Given the description of an element on the screen output the (x, y) to click on. 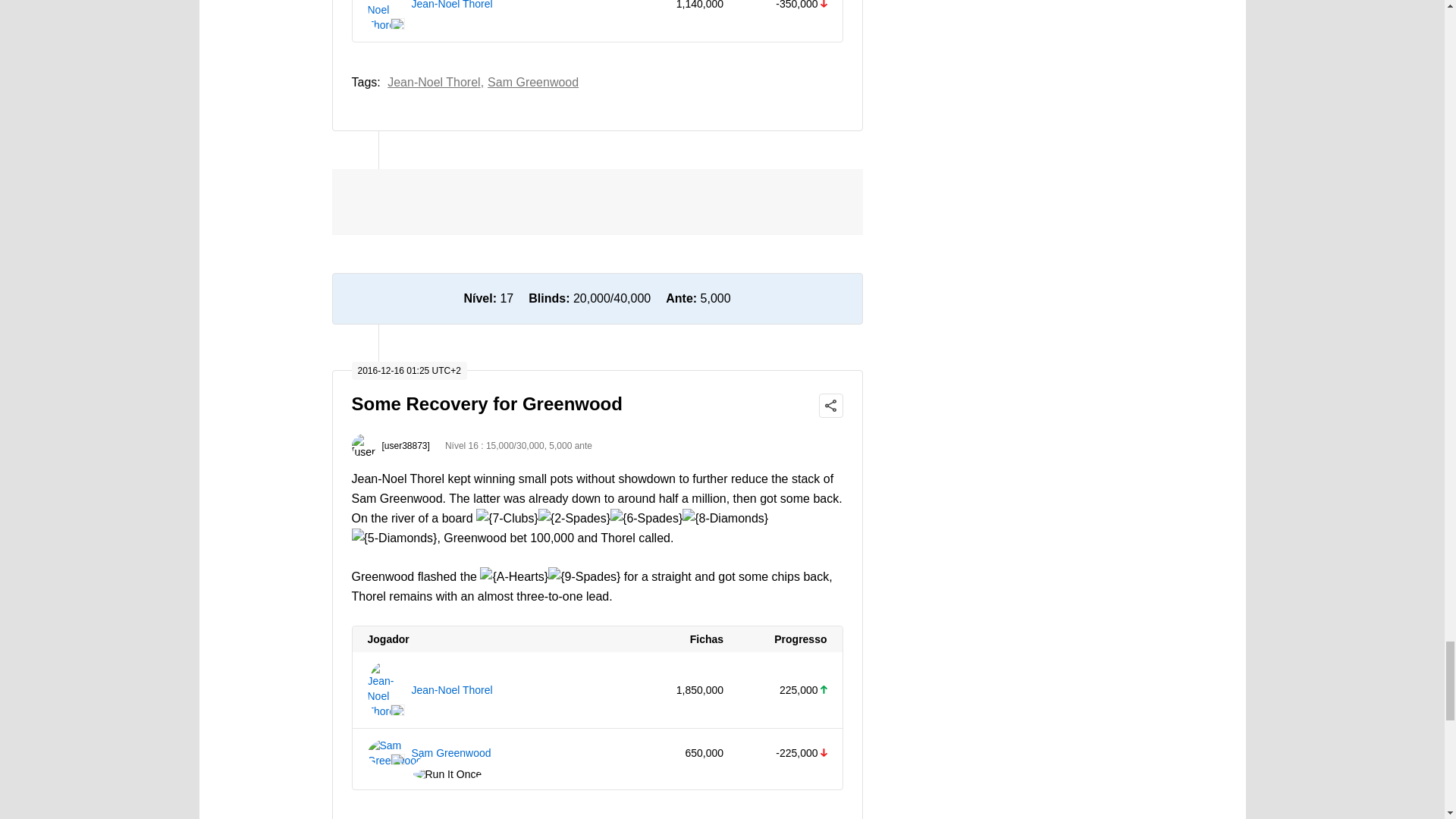
fr (397, 23)
fr (397, 709)
ca (397, 759)
